Given the description of an element on the screen output the (x, y) to click on. 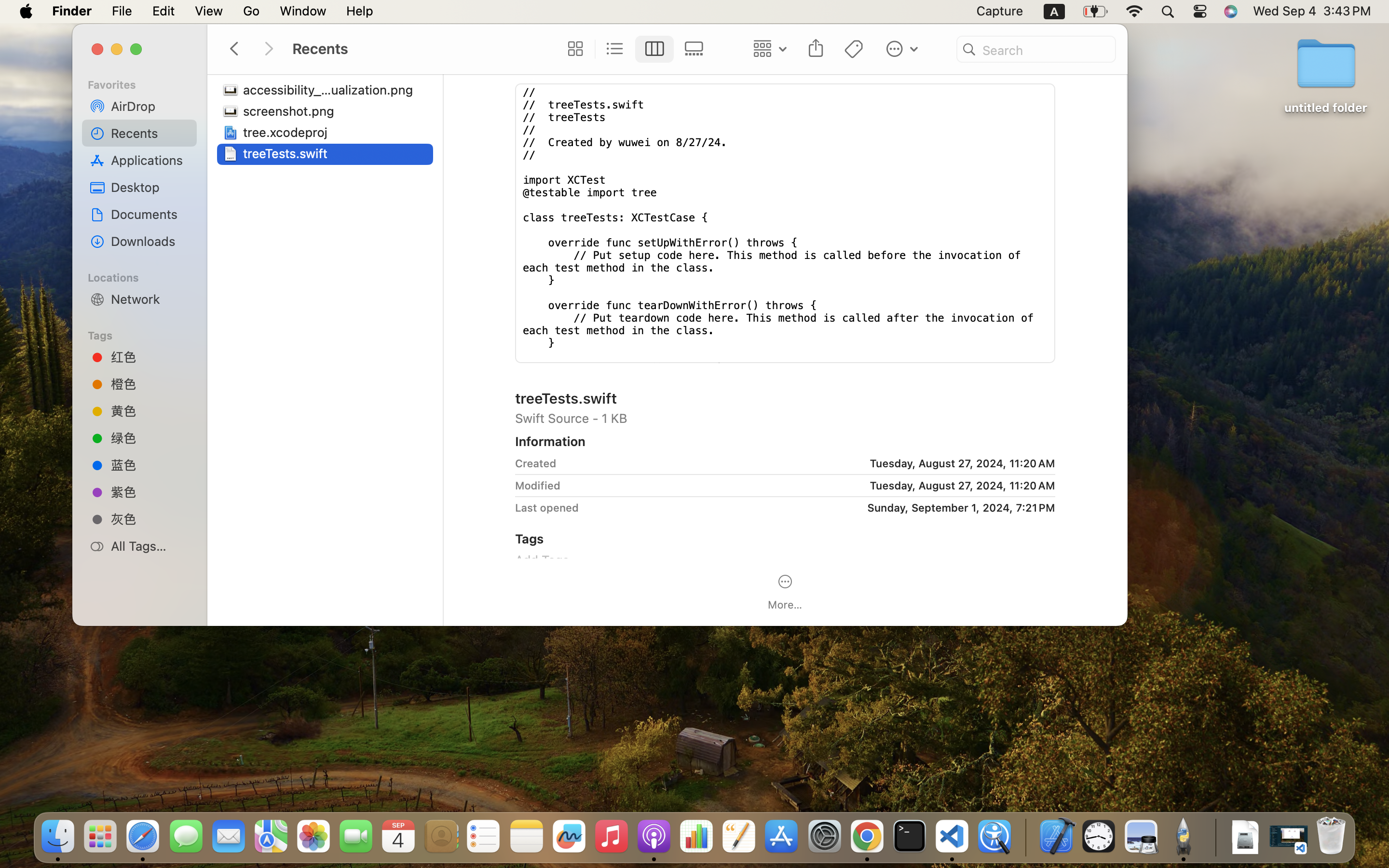
蓝色 Element type: AXStaticText (149, 464)
Information Element type: AXStaticText (550, 440)
1 Element type: AXRadioButton (654, 48)
<AXUIElement 0x13aa56540> {pid=510} Element type: AXRadioGroup (633, 48)
Favorites Element type: AXStaticText (144, 83)
